Given the description of an element on the screen output the (x, y) to click on. 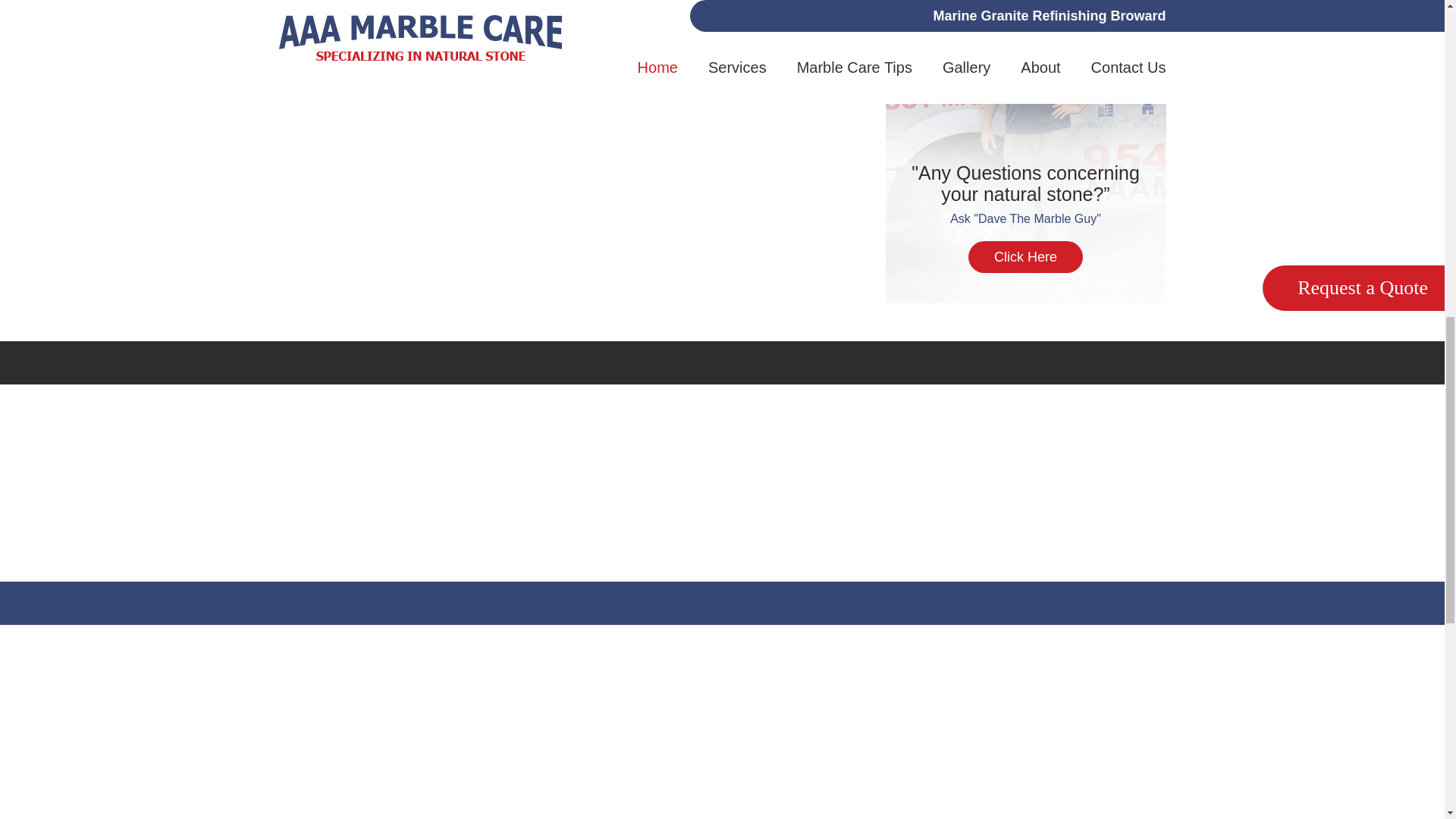
Click Here (1025, 256)
